Given the description of an element on the screen output the (x, y) to click on. 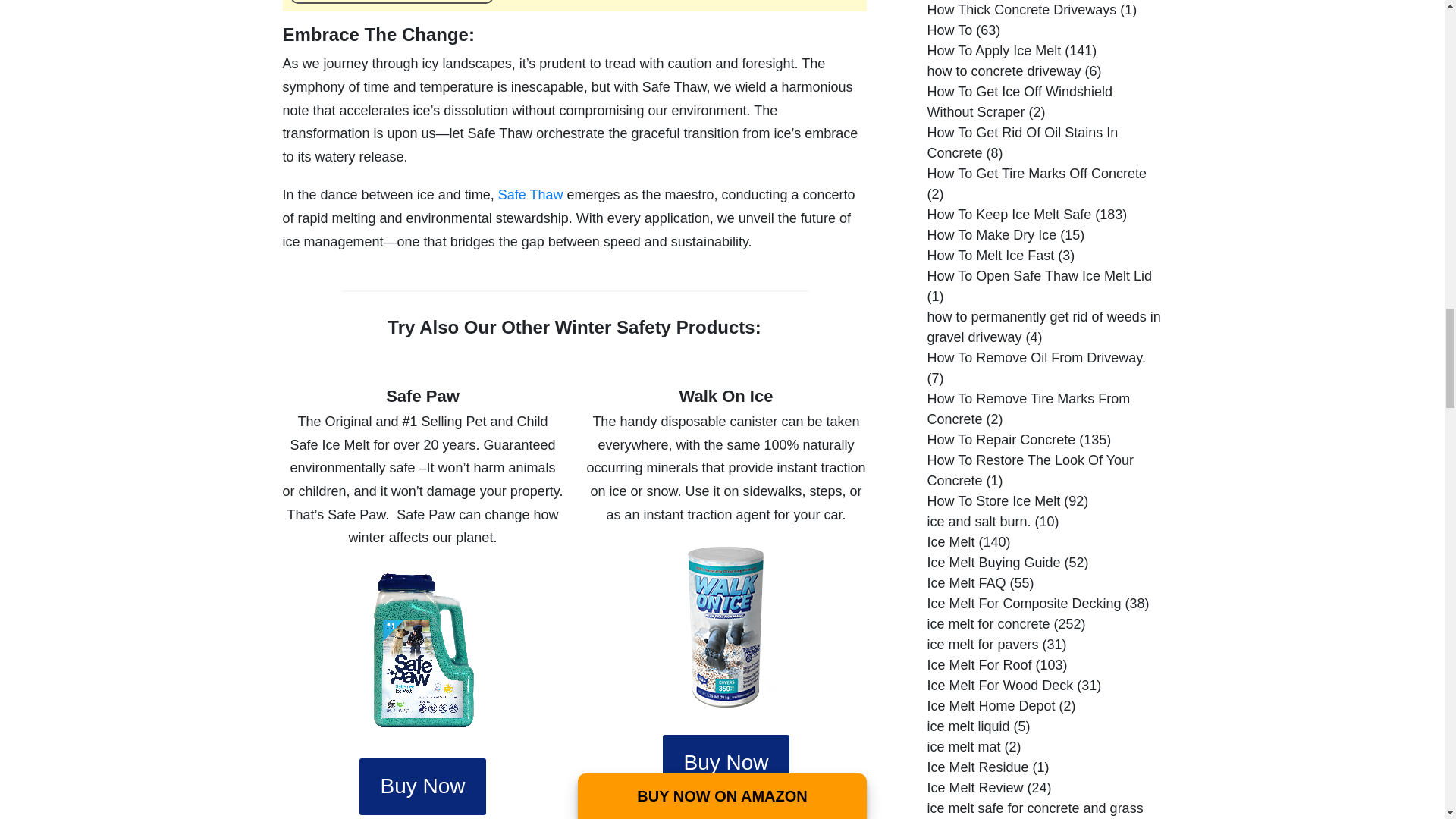
Safe Thaw (530, 194)
Buy Now (725, 762)
Buy Now (421, 786)
Buy Now On AMAZON.COM (391, 2)
